Given the description of an element on the screen output the (x, y) to click on. 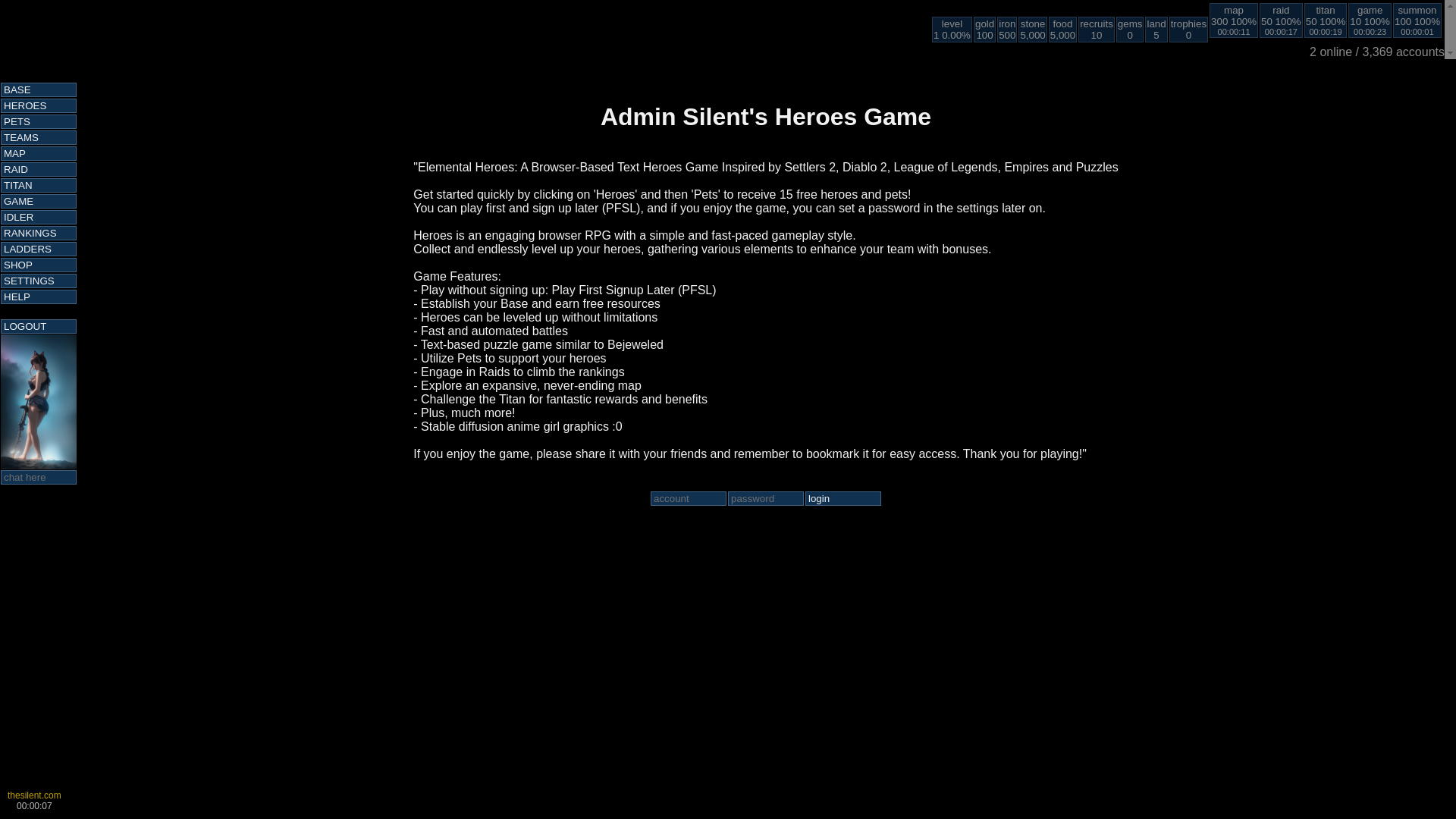
login (842, 498)
login (842, 498)
MAP (39, 153)
TITAN (39, 185)
HELP (39, 296)
HEROES (39, 105)
LADDERS (39, 248)
thesilent.com (34, 800)
RANKINGS (39, 233)
